Given the description of an element on the screen output the (x, y) to click on. 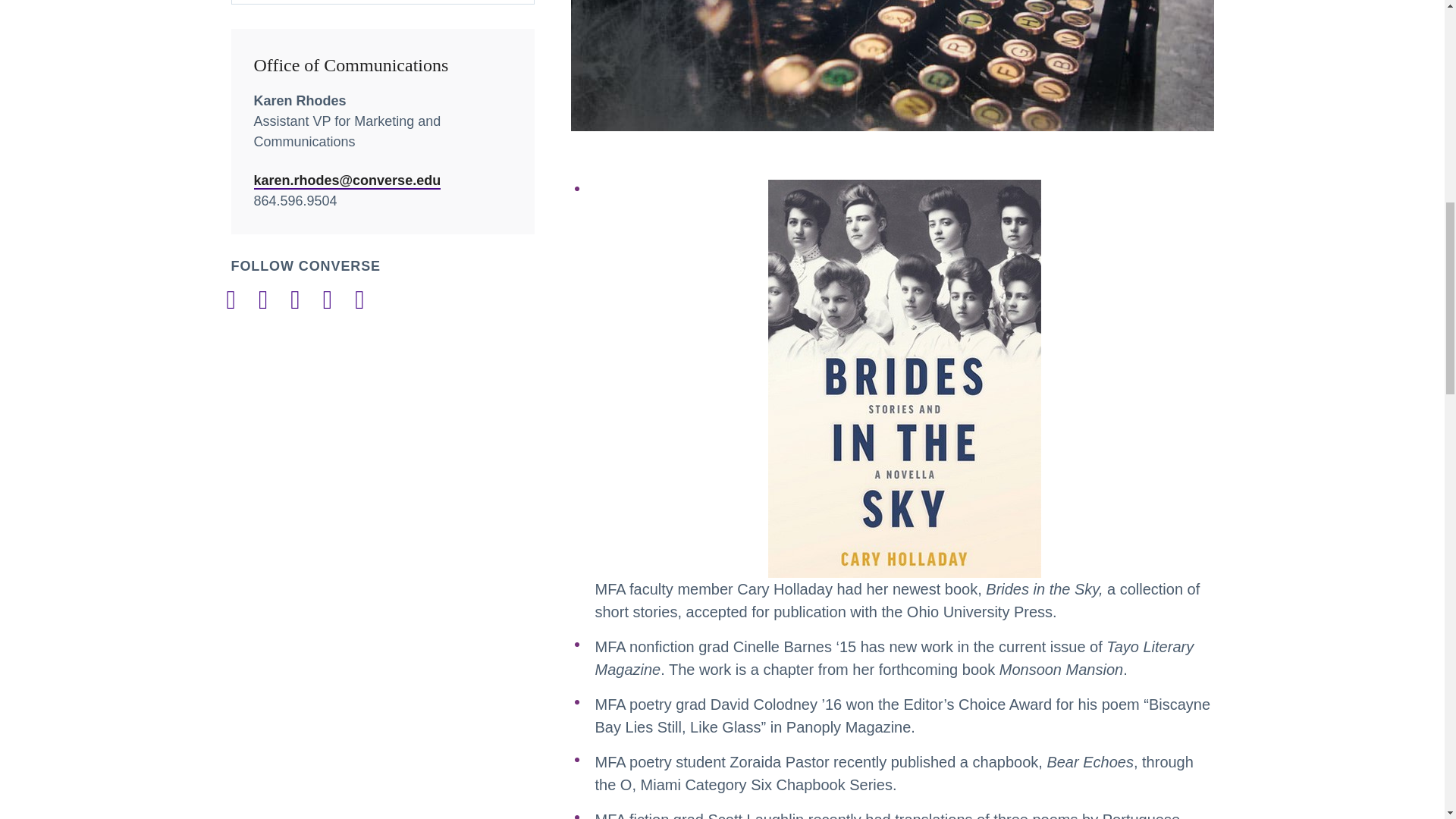
Follow us on Instagram (263, 299)
Like us on Facebook (229, 299)
Add us on LinkedIn (294, 299)
Follow us on YouTube (359, 299)
Follow us on Twitter (327, 299)
